Given the description of an element on the screen output the (x, y) to click on. 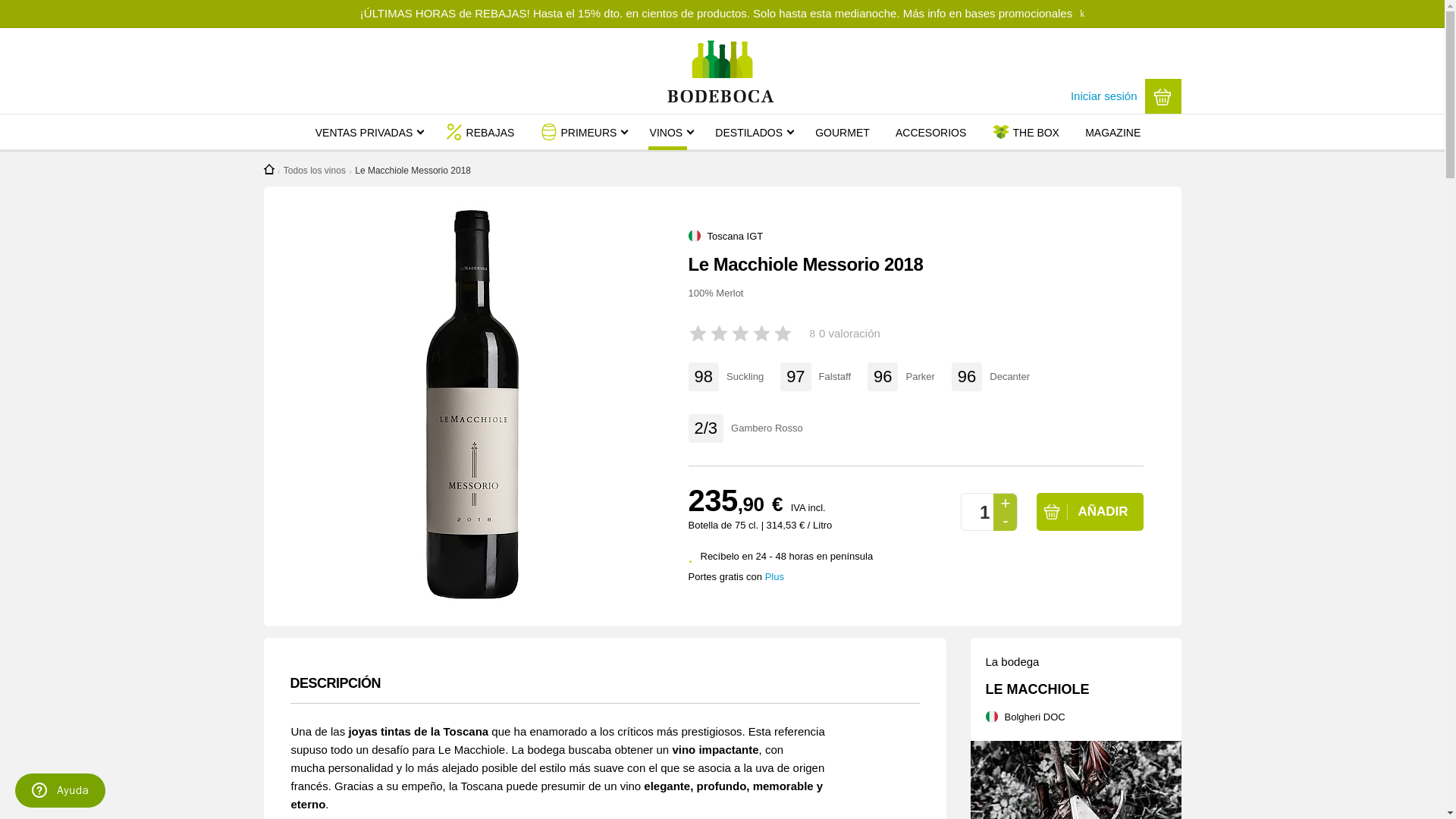
REBAJAS (490, 132)
PRIMEURS (587, 132)
0 producto (1162, 95)
- (1004, 521)
VENTAS PRIVADAS (364, 132)
VINOS (665, 132)
DESTILADOS (747, 132)
Bodeboca (722, 110)
GOURMET (841, 132)
ACCESORIOS (930, 132)
